Given the description of an element on the screen output the (x, y) to click on. 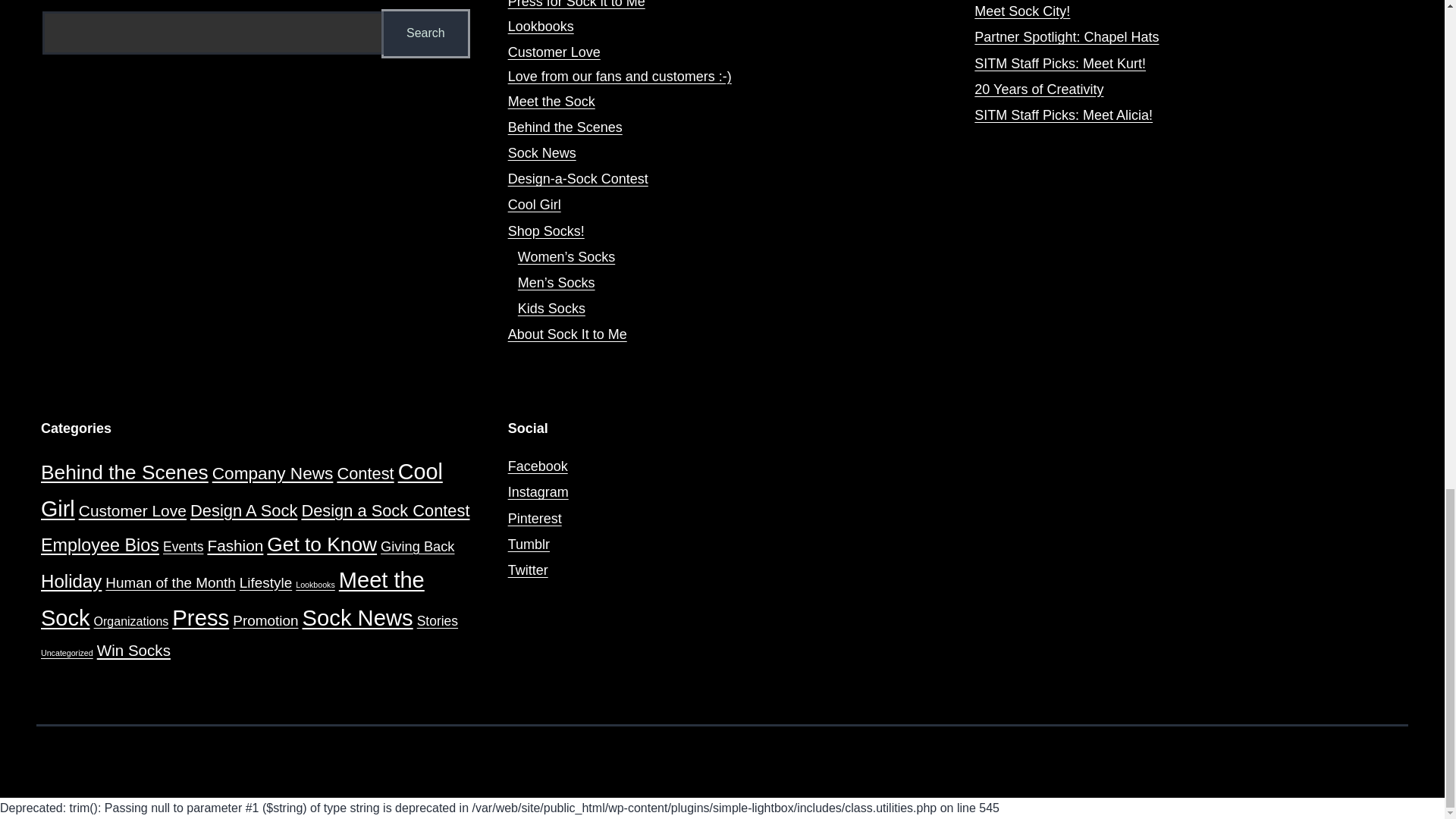
Design A Sock (243, 510)
Search (425, 33)
Company News (272, 473)
Design a Sock Contest (384, 510)
Follow our pins for fashion inspiration! (535, 518)
Sock News (542, 152)
Meet the Sock (551, 101)
Cool Girl (241, 489)
Lookbooks (540, 26)
Behind the Scenes (124, 472)
